Given the description of an element on the screen output the (x, y) to click on. 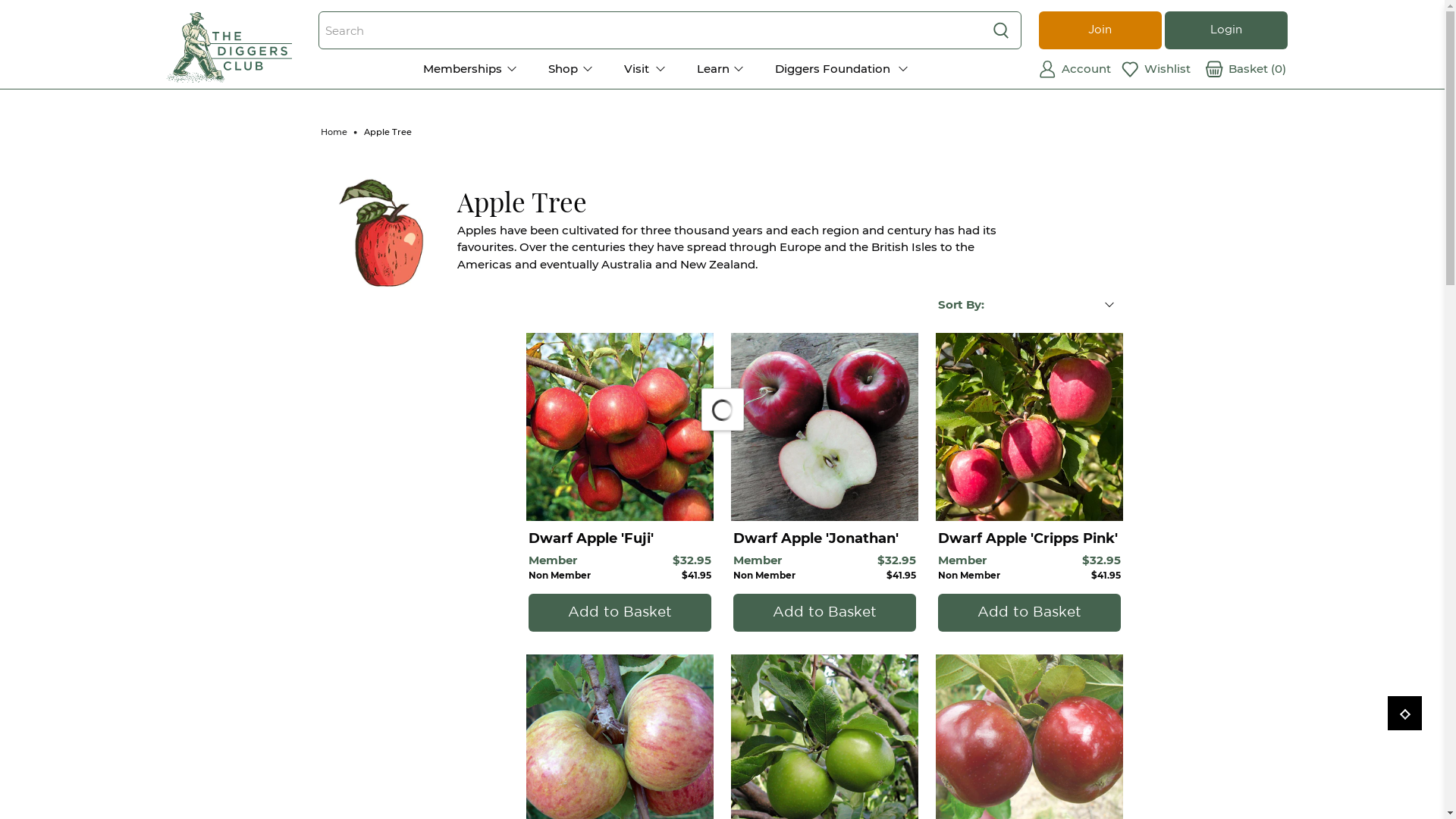
Account Element type: text (1079, 69)
Dwarf Apple 'Jonathan' Element type: text (824, 537)
Basket (0) Element type: text (1245, 69)
Dwarf Apple 'Cripps Pink' Element type: text (1029, 537)
Add to Basket Element type: text (824, 612)
Add to Basket Element type: text (1029, 612)
Join Element type: text (1099, 30)
Wishlist Element type: text (1162, 69)
Add to Basket Element type: text (619, 612)
Login Element type: text (1093, 156)
Dwarf Apple 'Fuji' Element type: text (619, 537)
The Diggers Club Element type: hover (229, 46)
Home Element type: text (333, 132)
